Given the description of an element on the screen output the (x, y) to click on. 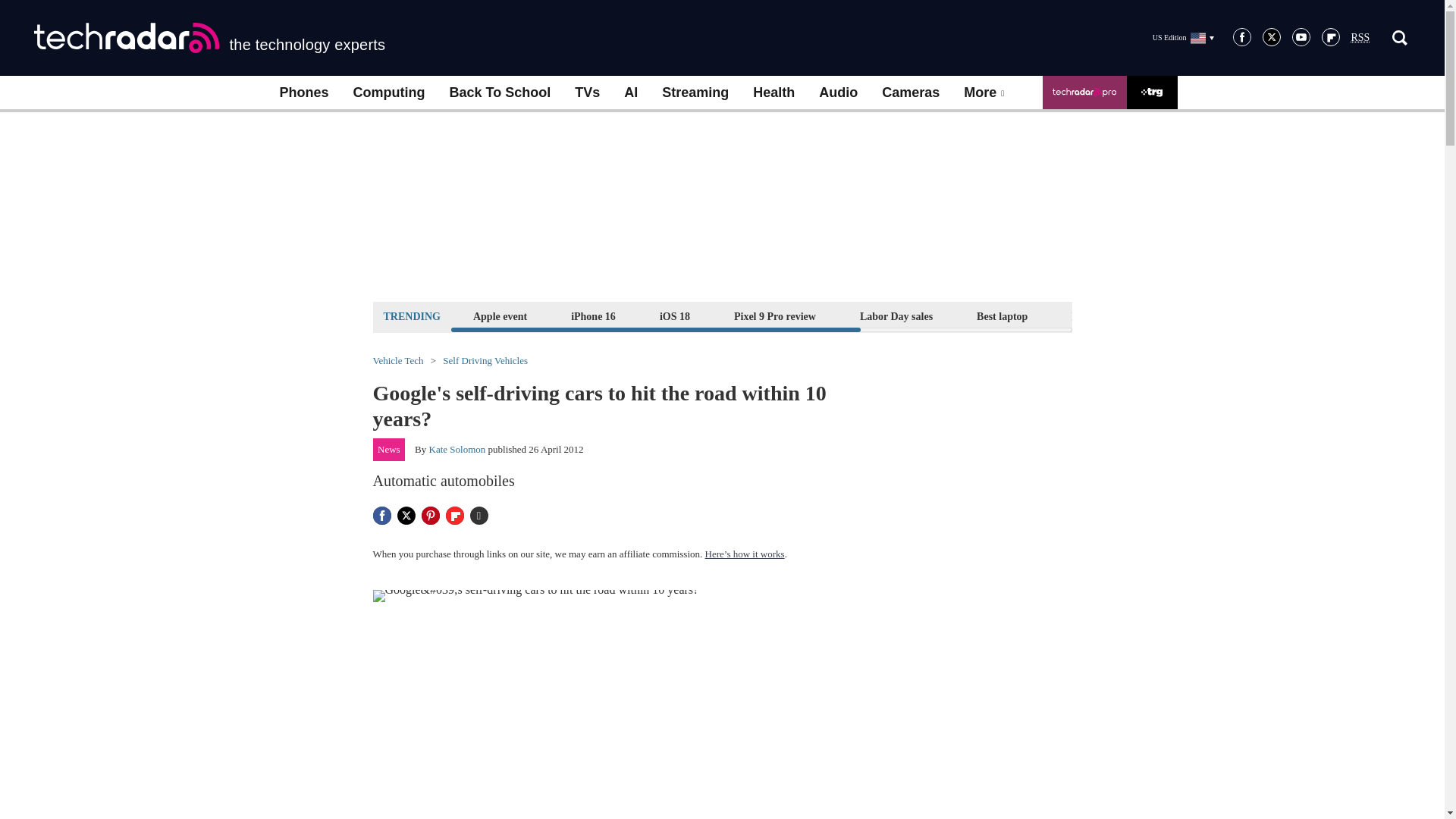
AI (630, 92)
Streaming (695, 92)
Computing (389, 92)
Audio (837, 92)
Back To School (499, 92)
Cameras (910, 92)
Really Simple Syndication (1360, 37)
Health (773, 92)
US Edition (1182, 37)
Phones (303, 92)
